Given the description of an element on the screen output the (x, y) to click on. 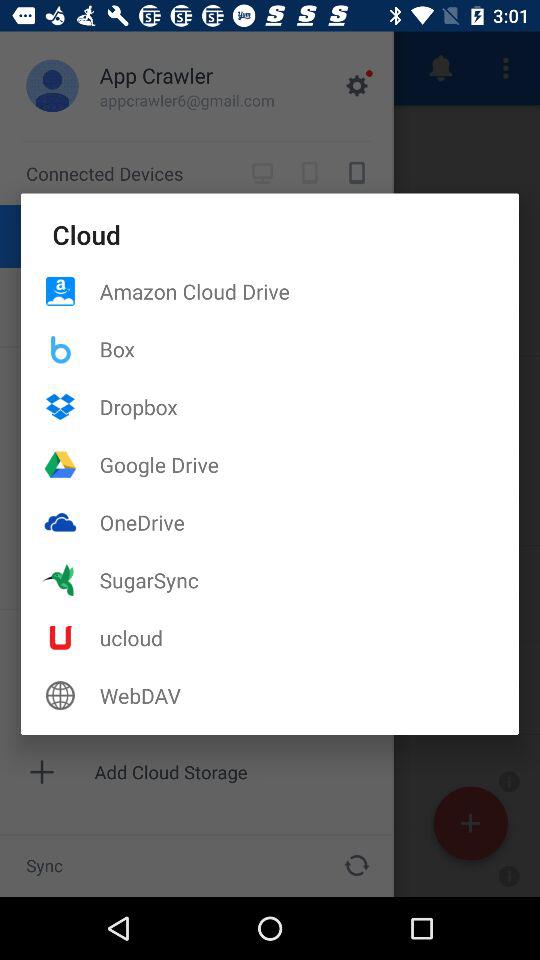
tap icon below box (309, 406)
